Given the description of an element on the screen output the (x, y) to click on. 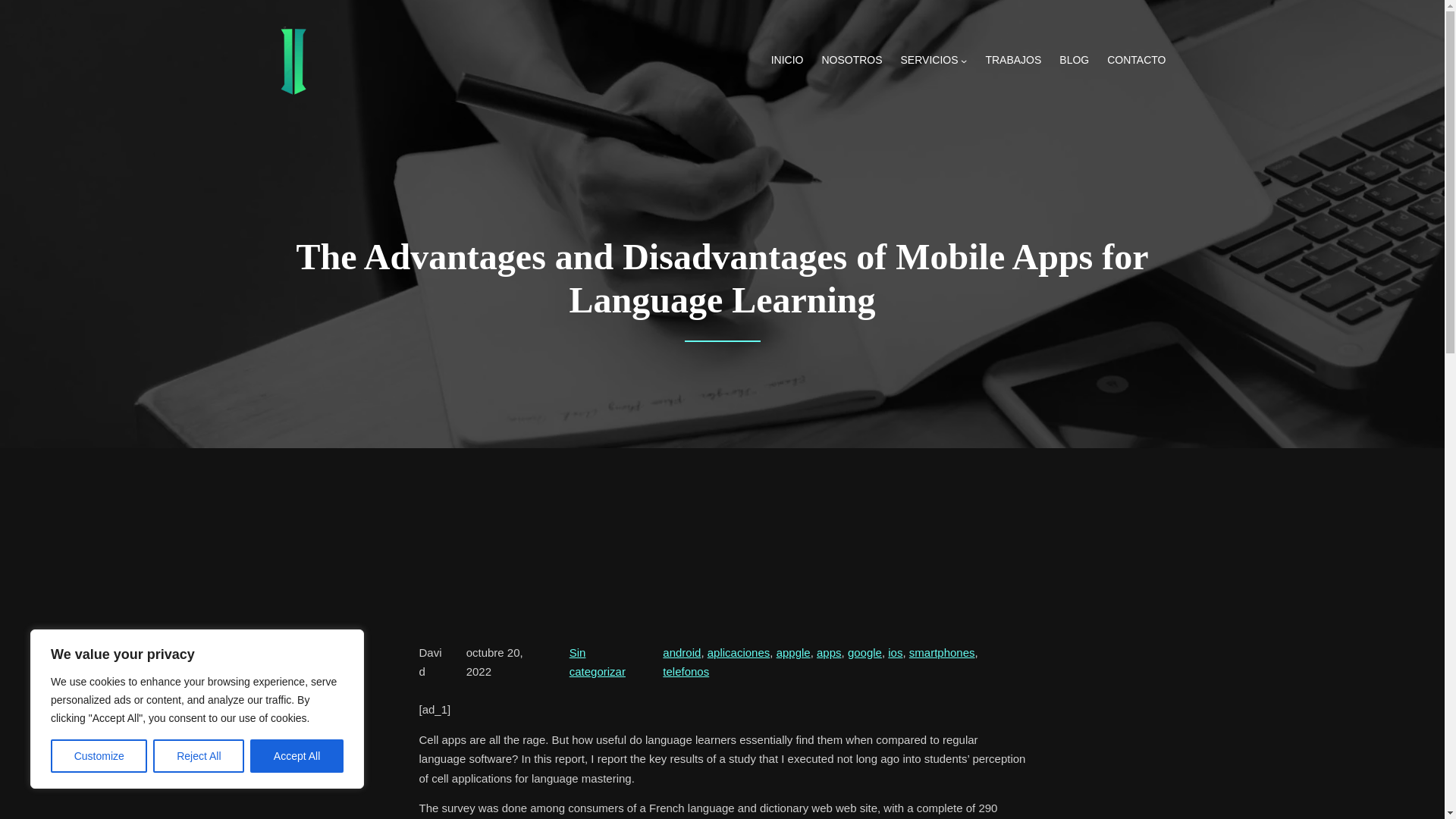
Sin categorizar (597, 662)
SERVICIOS (929, 60)
google (864, 652)
NOSOTROS (851, 60)
Customize (98, 756)
Reject All (198, 756)
TRABAJOS (1013, 60)
smartphones (941, 652)
appgle (793, 652)
Accept All (296, 756)
aplicaciones (738, 652)
apps (828, 652)
INICIO (787, 60)
ios (895, 652)
CONTACTO (1136, 60)
